Given the description of an element on the screen output the (x, y) to click on. 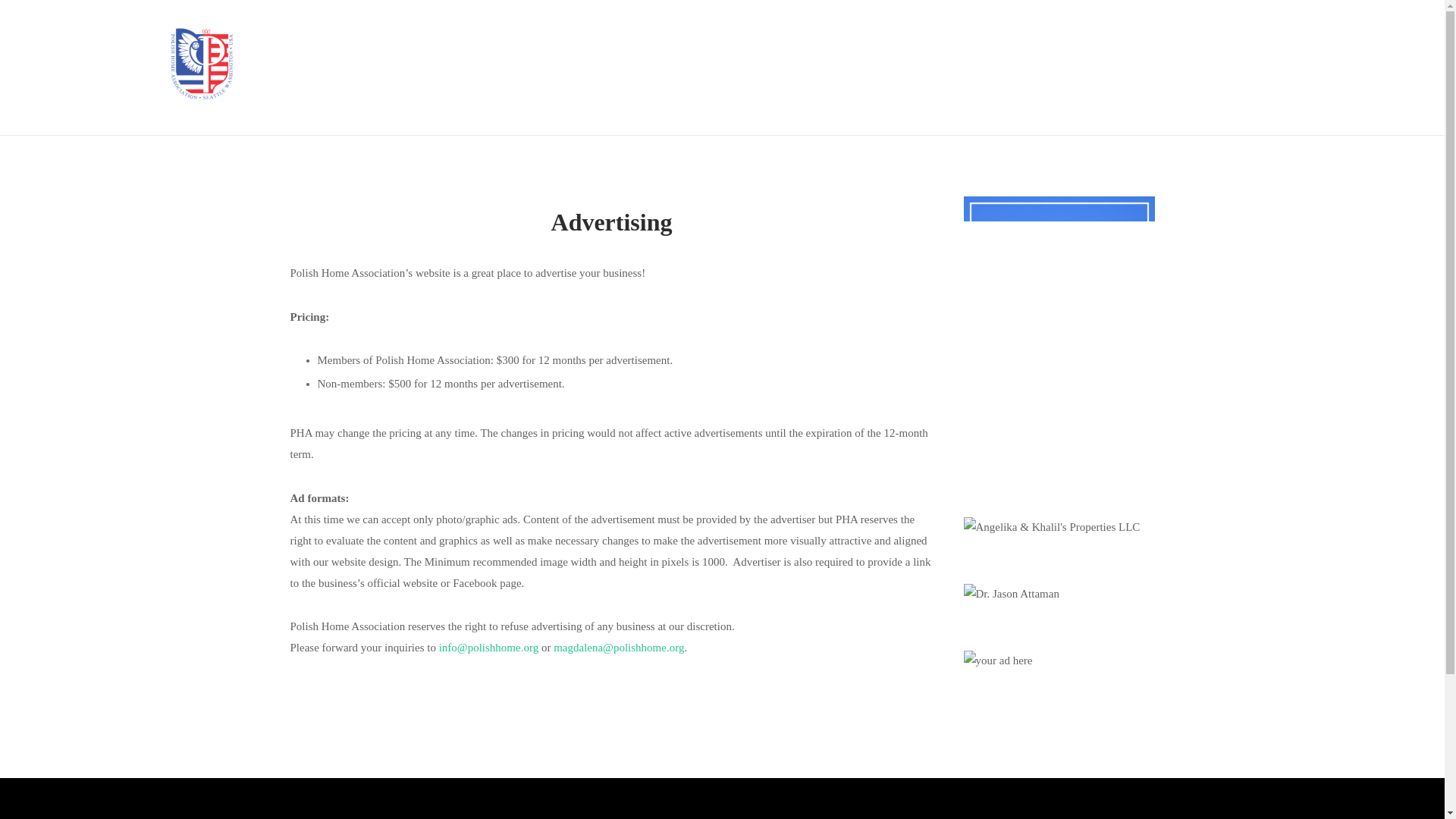
Home (202, 101)
